Given the description of an element on the screen output the (x, y) to click on. 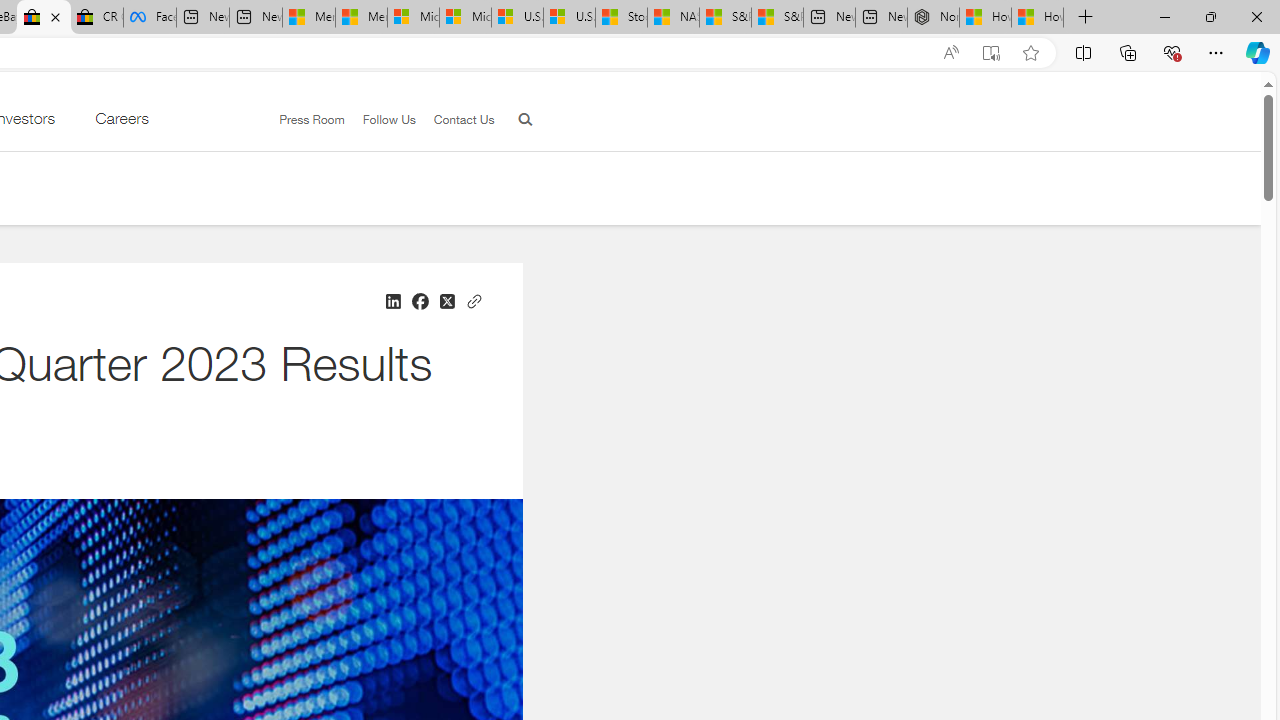
Press Room (312, 119)
Share on LinkedIn (392, 301)
